Given the description of an element on the screen output the (x, y) to click on. 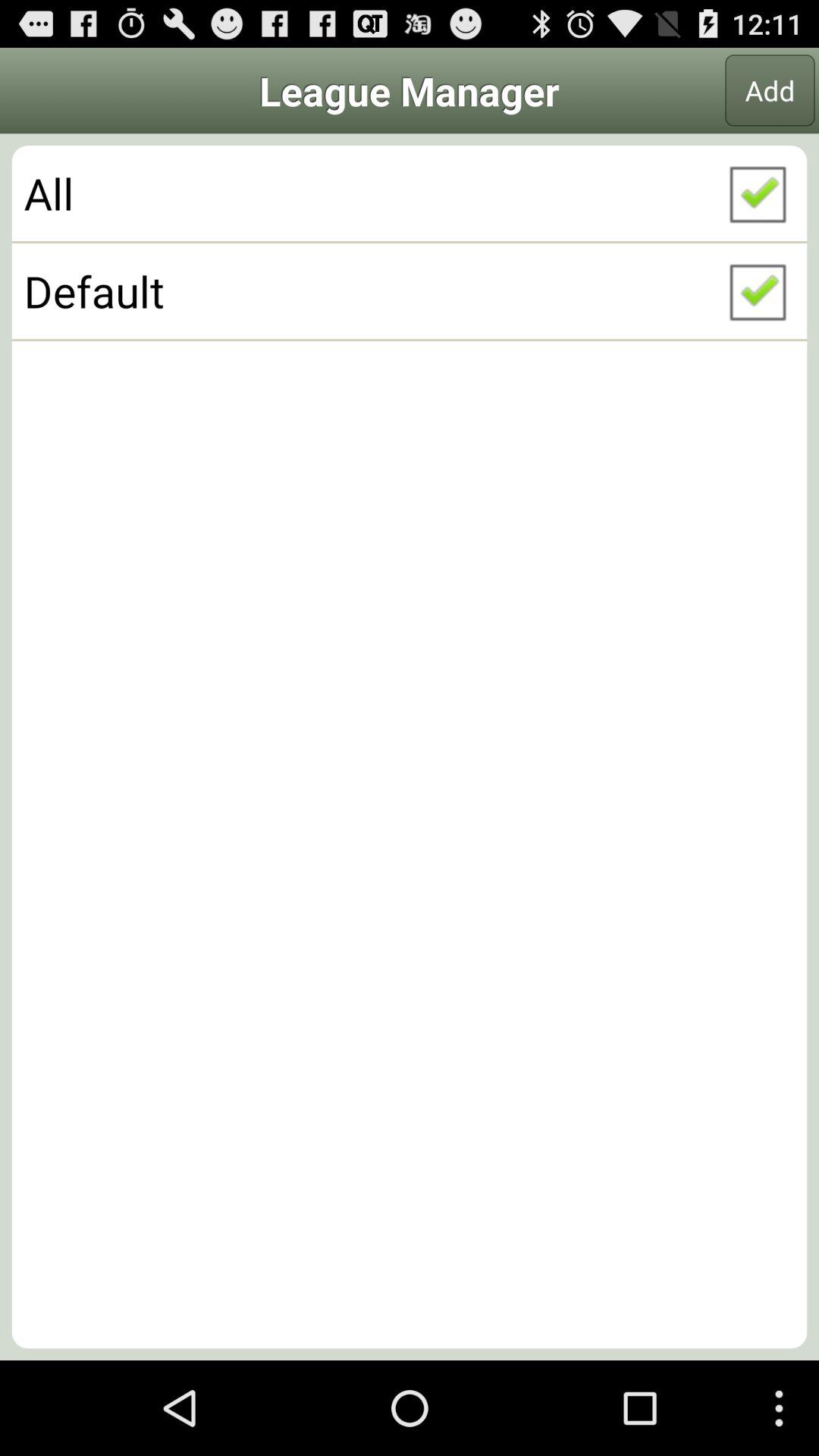
launch add item (770, 90)
